Given the description of an element on the screen output the (x, y) to click on. 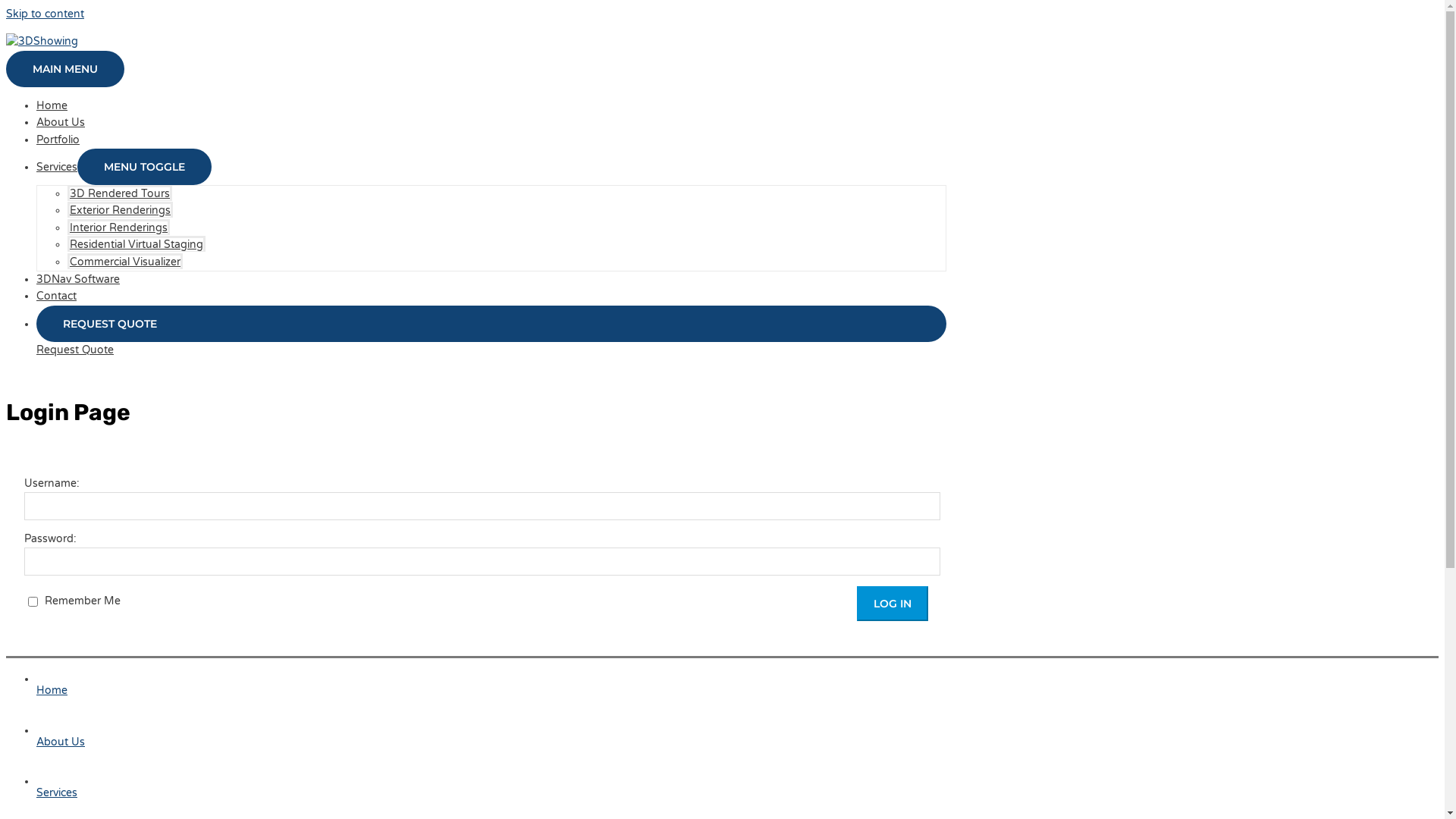
3D Rendered Tours Element type: text (119, 192)
About Us Element type: text (491, 734)
Contact Element type: text (56, 295)
Residential Virtual Staging Element type: text (136, 243)
Log In Element type: text (892, 603)
Portfolio Element type: text (57, 139)
3DNav Software Element type: text (77, 279)
Skip to content Element type: text (45, 13)
Request Quote Element type: text (74, 349)
Home Element type: text (51, 105)
Interior Renderings Element type: text (118, 227)
MAIN MENU Element type: text (65, 68)
MENU TOGGLE Element type: text (144, 166)
About Us Element type: text (60, 122)
Commercial Visualizer Element type: text (124, 261)
Services Element type: text (491, 785)
Home Element type: text (491, 682)
Services Element type: text (56, 166)
REQUEST QUOTE Element type: text (491, 330)
Exterior Renderings Element type: text (119, 209)
